Given the description of an element on the screen output the (x, y) to click on. 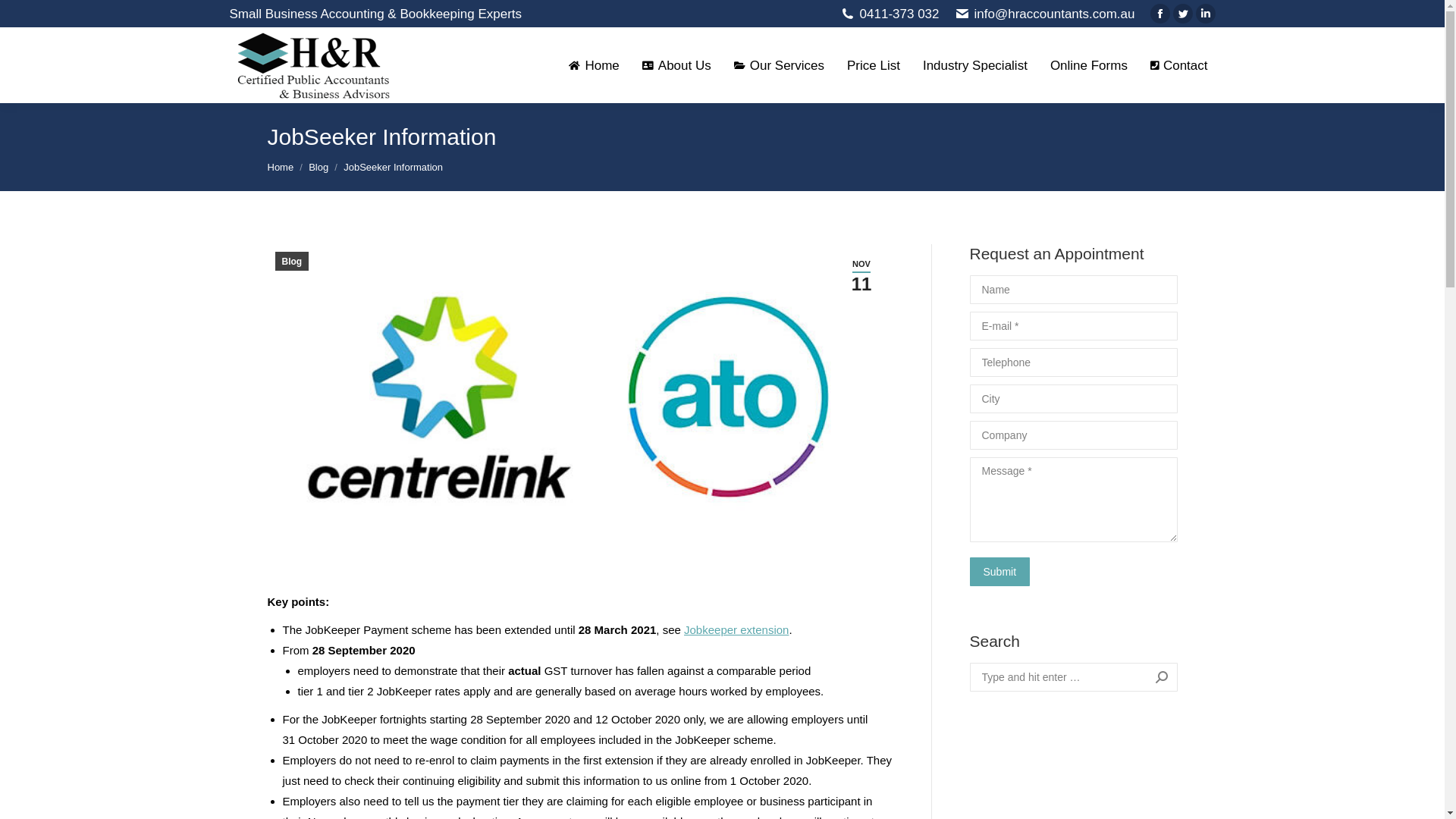
Jobkeeper extension Element type: text (736, 629)
Post Comment Element type: text (50, 15)
Facebook page opens in new window Element type: text (1160, 13)
Industry Specialist Element type: text (975, 64)
Our Services Element type: text (778, 64)
Home Element type: text (593, 64)
Blog Element type: text (291, 260)
Contact Element type: text (1178, 64)
Submit Element type: text (999, 571)
Blog Element type: text (318, 166)
Twitter page opens in new window Element type: text (1182, 13)
submit Element type: text (1067, 573)
Online Forms Element type: text (1088, 64)
NOV
11 Element type: text (860, 275)
Home Element type: text (279, 166)
Linkedin page opens in new window Element type: text (1205, 13)
About Us Element type: text (676, 64)
Price List Element type: text (873, 64)
Go! Element type: text (1154, 676)
